Given the description of an element on the screen output the (x, y) to click on. 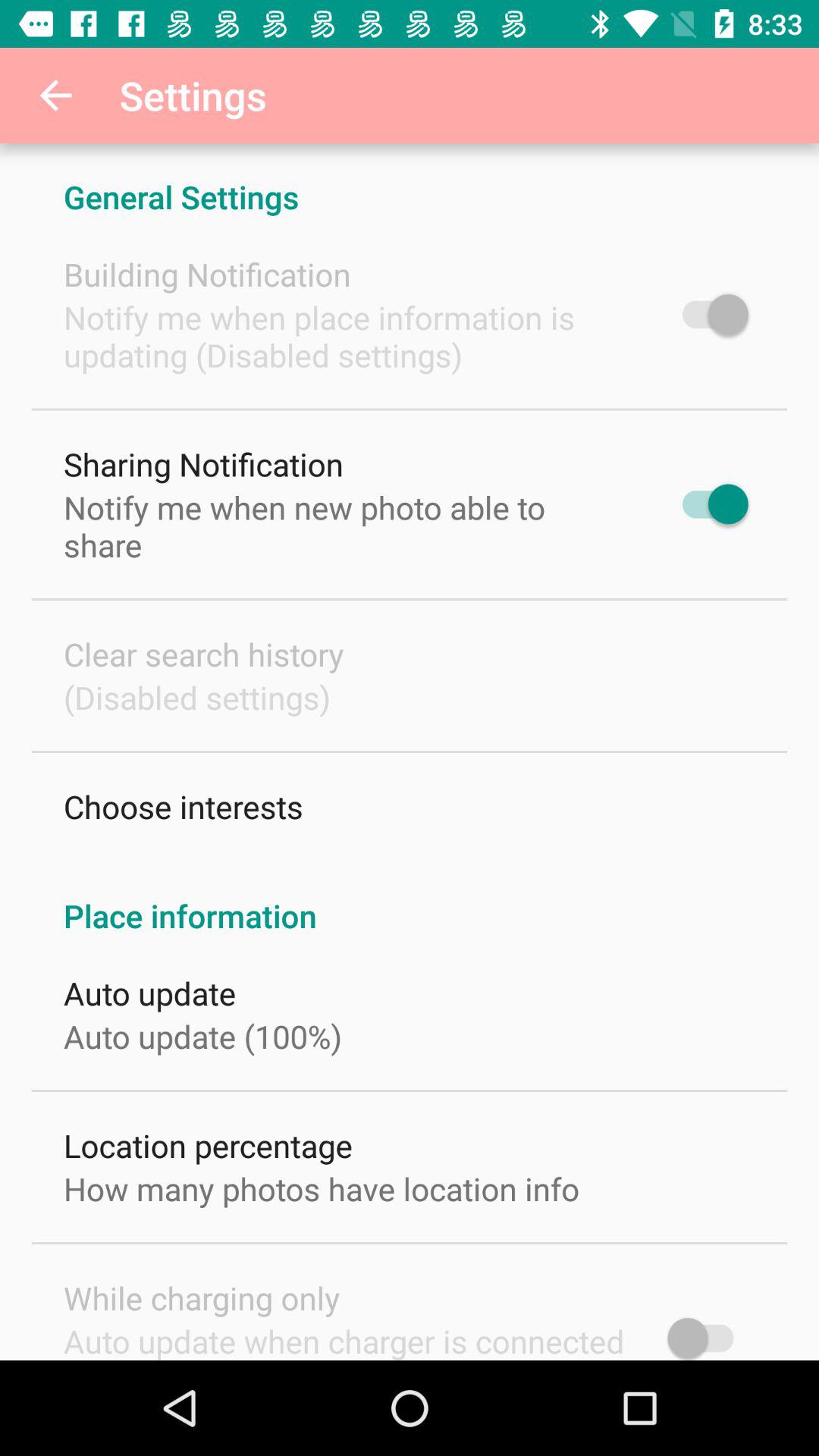
press the icon above the general settings item (55, 95)
